Given the description of an element on the screen output the (x, y) to click on. 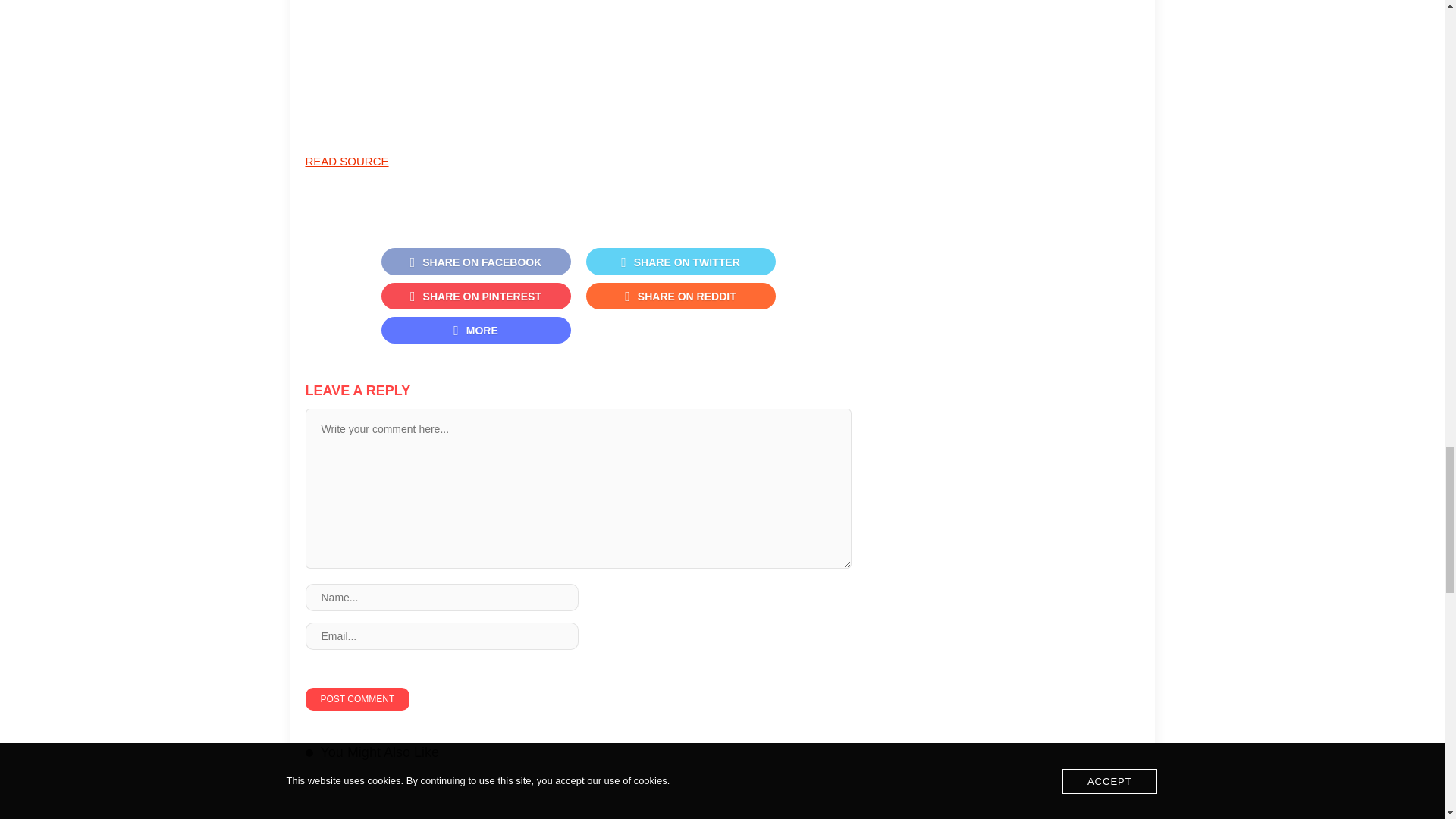
Post Comment (356, 698)
